Given the description of an element on the screen output the (x, y) to click on. 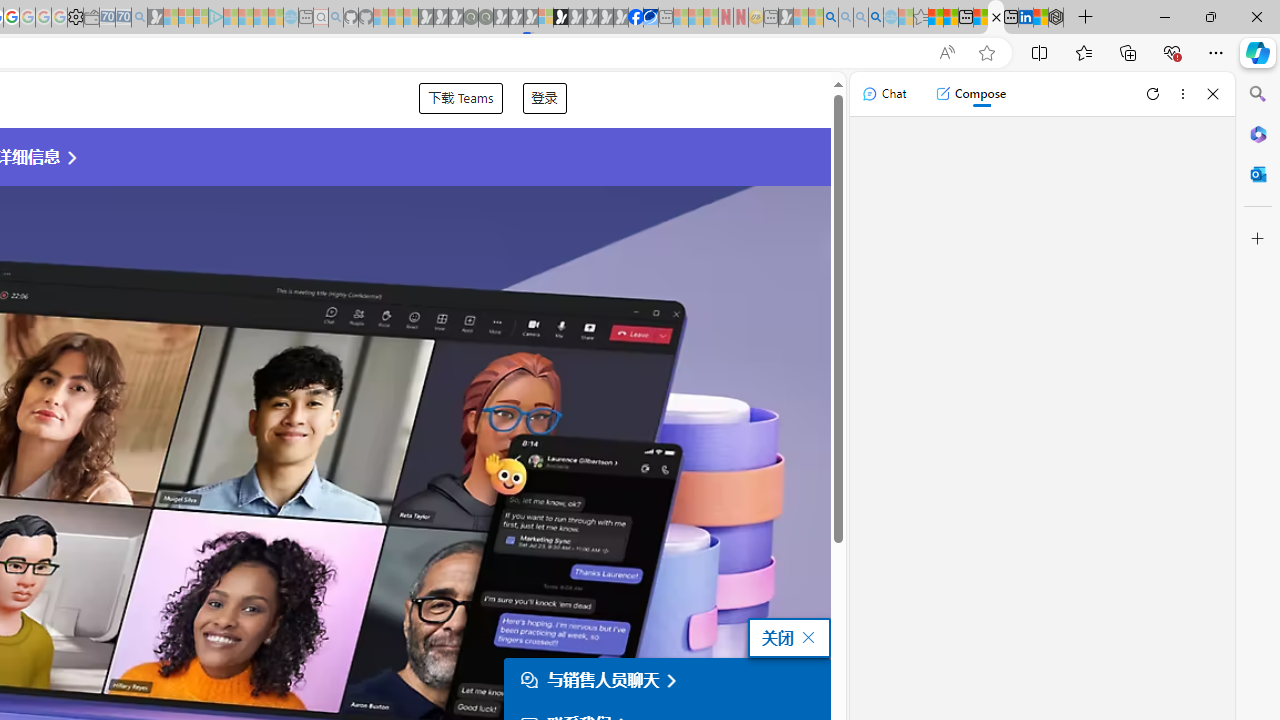
Future Focus Report 2024 - Sleeping (485, 17)
Google Chrome Internet Browser Download - Search Images (876, 17)
